Given the description of an element on the screen output the (x, y) to click on. 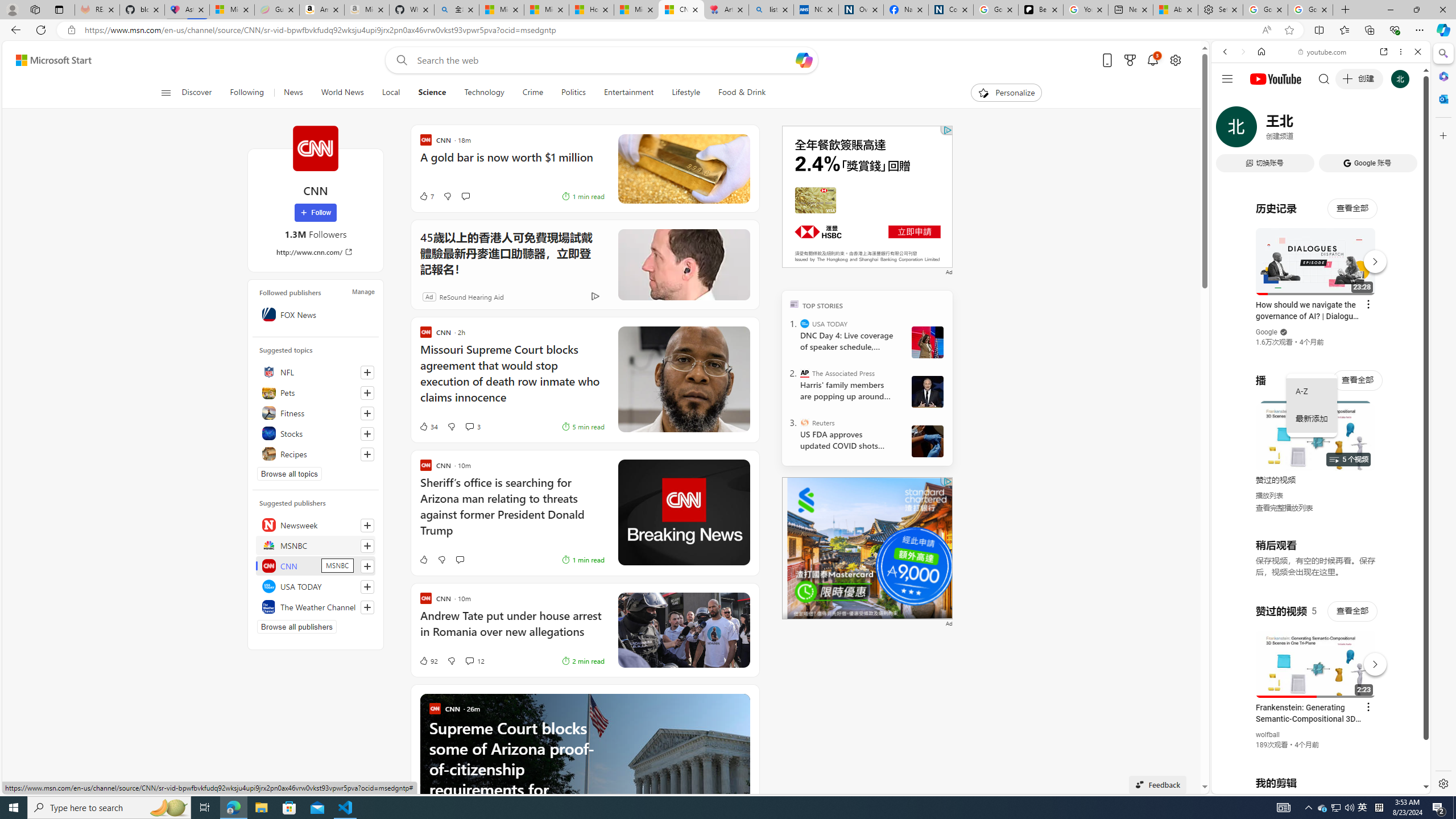
YouTube (1315, 655)
Aberdeen, Hong Kong SAR hourly forecast | Microsoft Weather (1175, 9)
Actions for this site (1371, 661)
Class: qc-adchoices-link top-right  (946, 481)
